Given the description of an element on the screen output the (x, y) to click on. 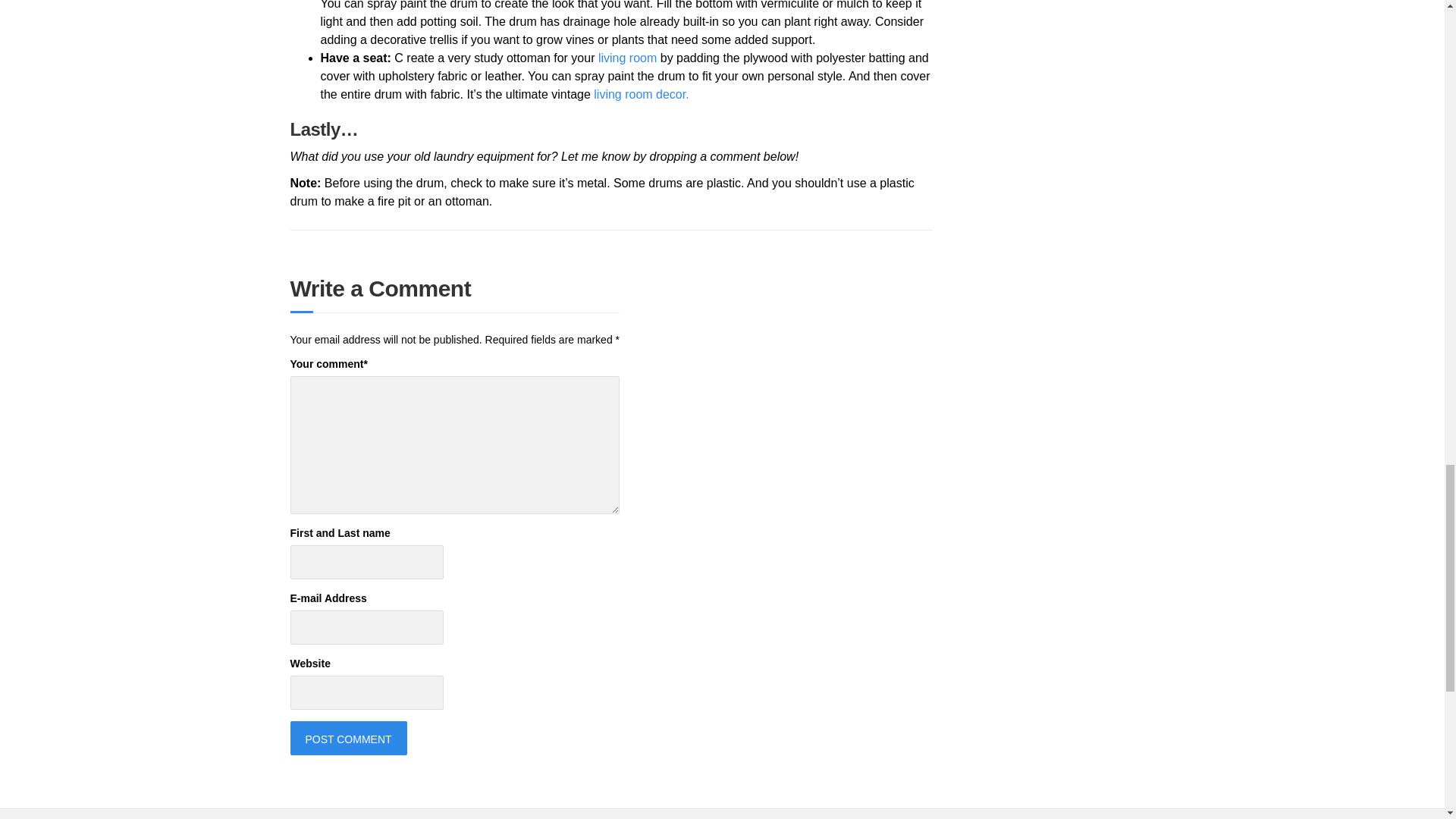
Post Comment (347, 738)
